Given the description of an element on the screen output the (x, y) to click on. 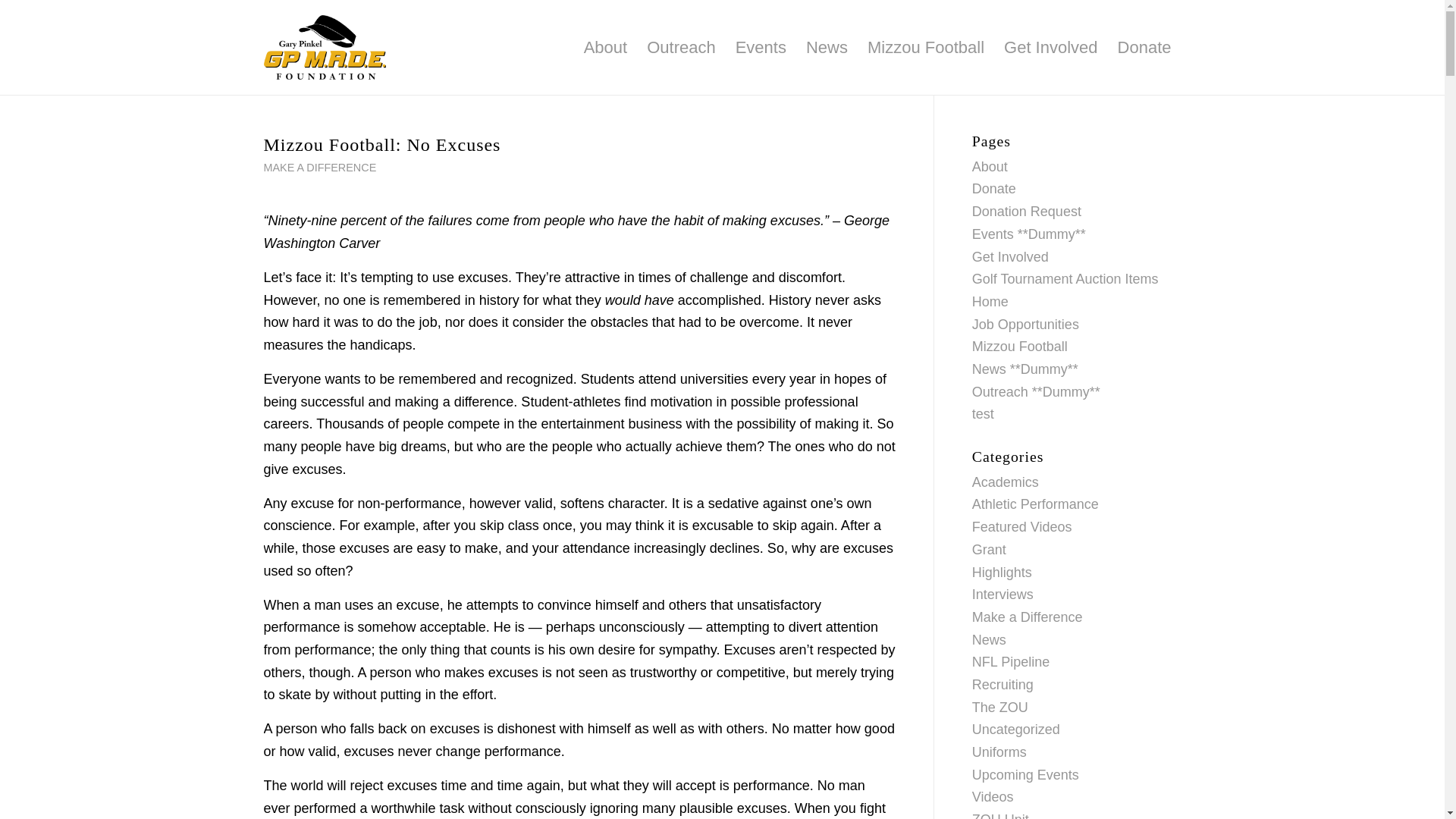
MAKE A DIFFERENCE (320, 167)
Mizzou Football (925, 47)
Outreach (681, 47)
Permanent Link: Mizzou Football: No Excuses (381, 144)
Get Involved (1051, 47)
newlogocolorcropped (325, 47)
Mizzou Football: No Excuses (381, 144)
